Given the description of an element on the screen output the (x, y) to click on. 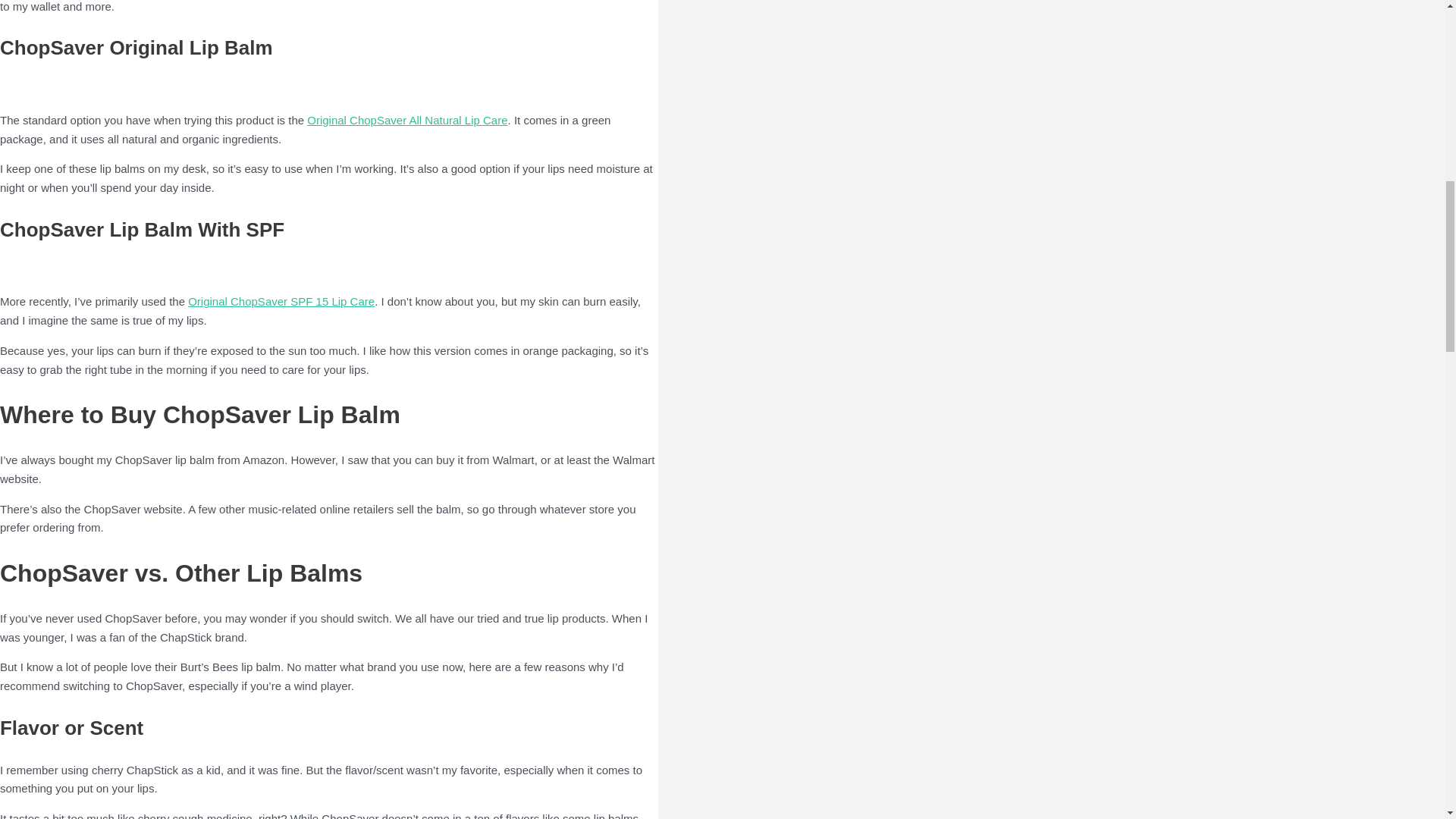
Original ChopSaver SPF 15 Lip Care (280, 300)
Original ChopSaver All Natural Lip Care (406, 119)
